Given the description of an element on the screen output the (x, y) to click on. 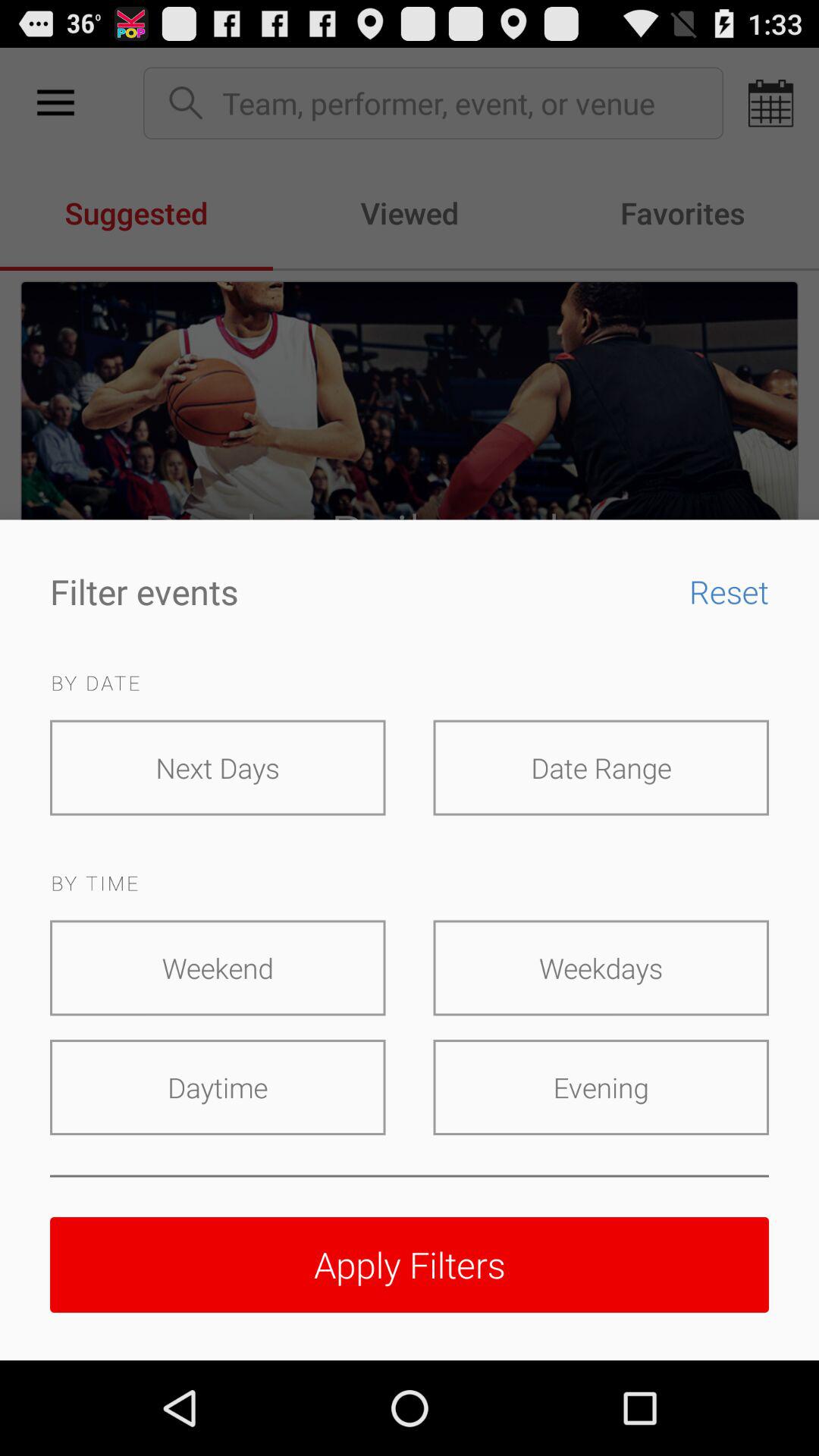
jump until the weekdays icon (600, 967)
